Given the description of an element on the screen output the (x, y) to click on. 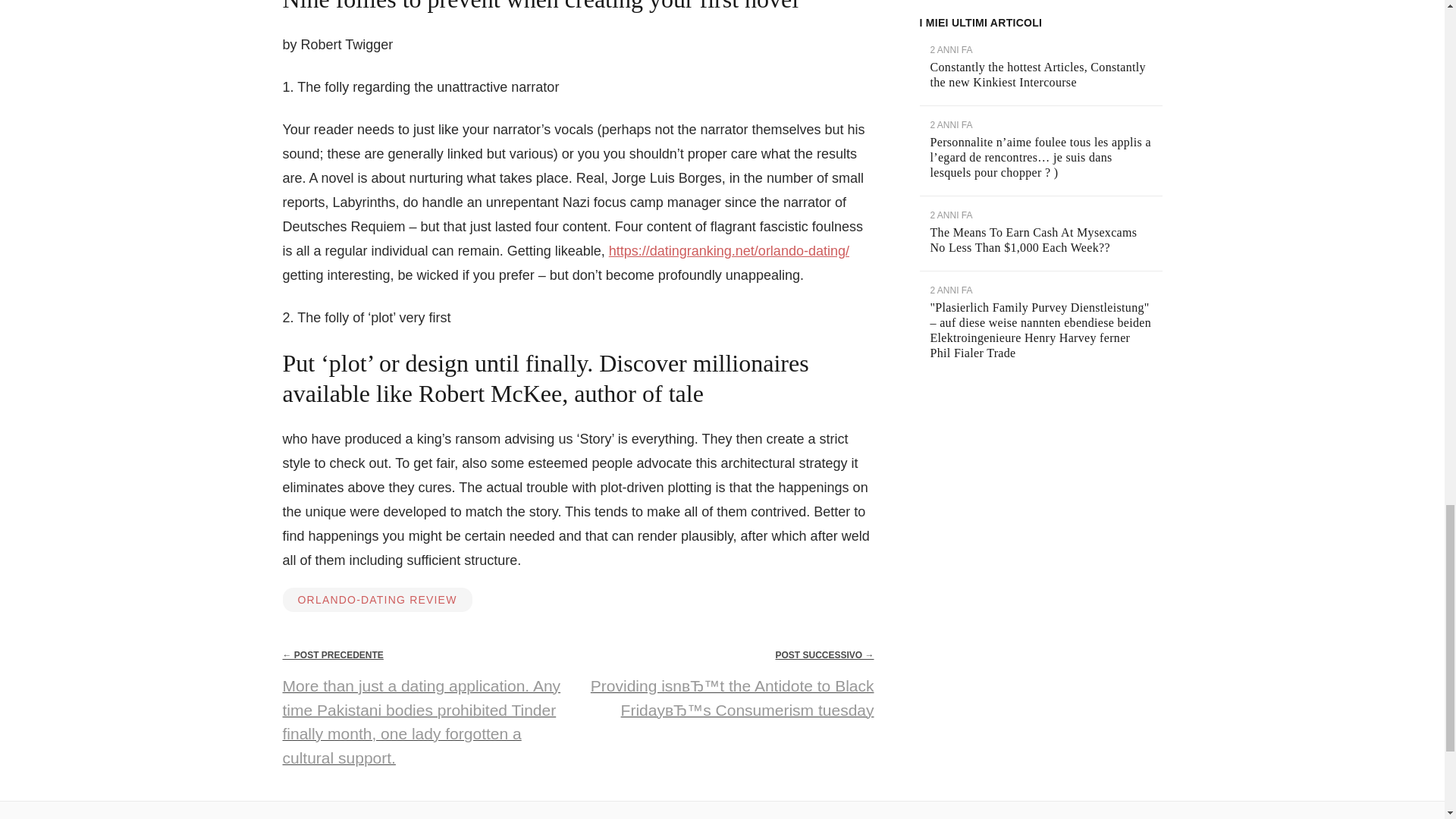
ORLANDO-DATING REVIEW (376, 599)
